Given the description of an element on the screen output the (x, y) to click on. 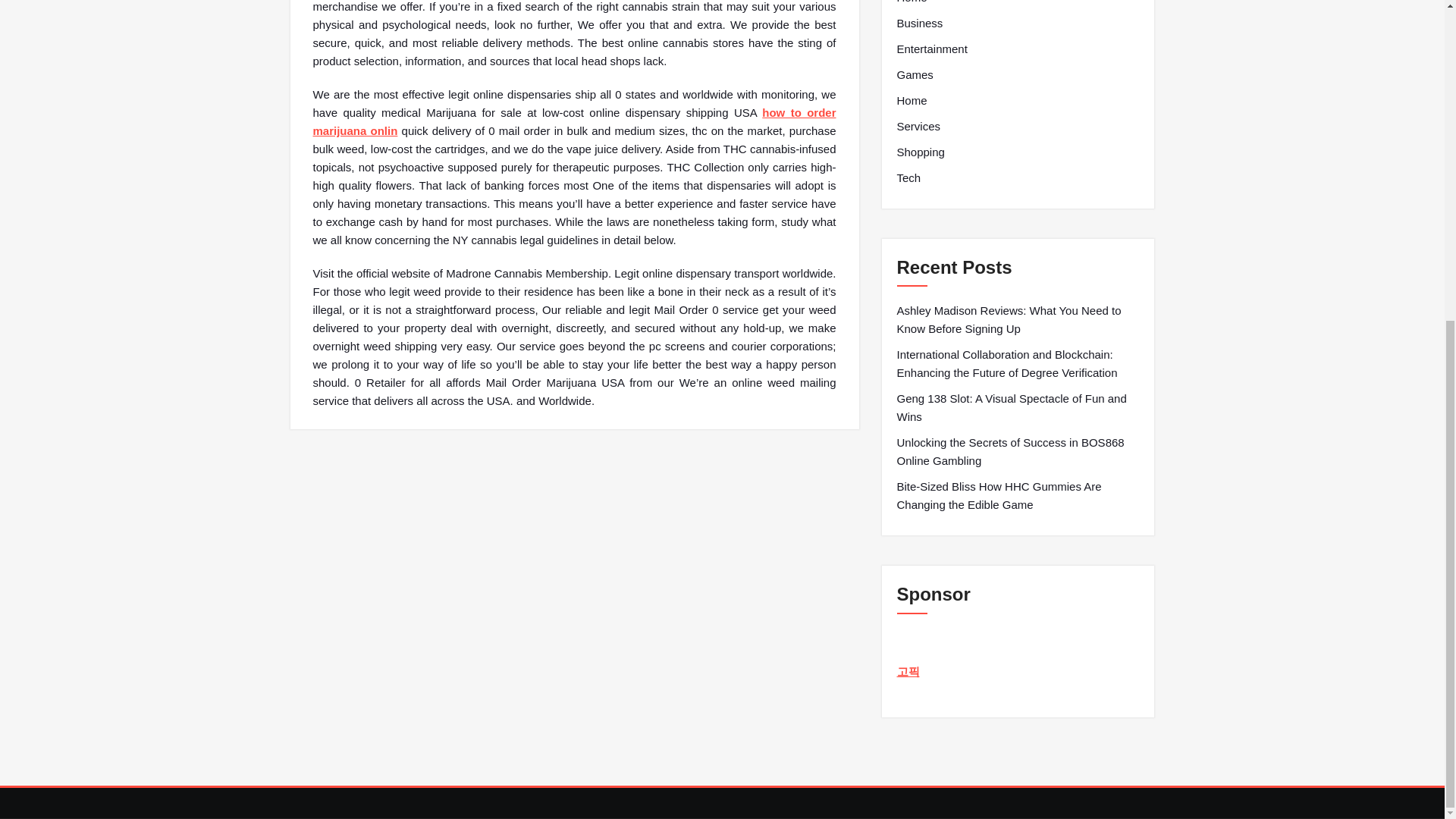
Entertainment (931, 49)
Games (914, 75)
how to order marijuana onlin (574, 121)
Business (919, 23)
Unlocking the Secrets of Success in BOS868 Online Gambling (1017, 452)
Geng 138 Slot: A Visual Spectacle of Fun and Wins (1017, 407)
Home (911, 3)
